Given the description of an element on the screen output the (x, y) to click on. 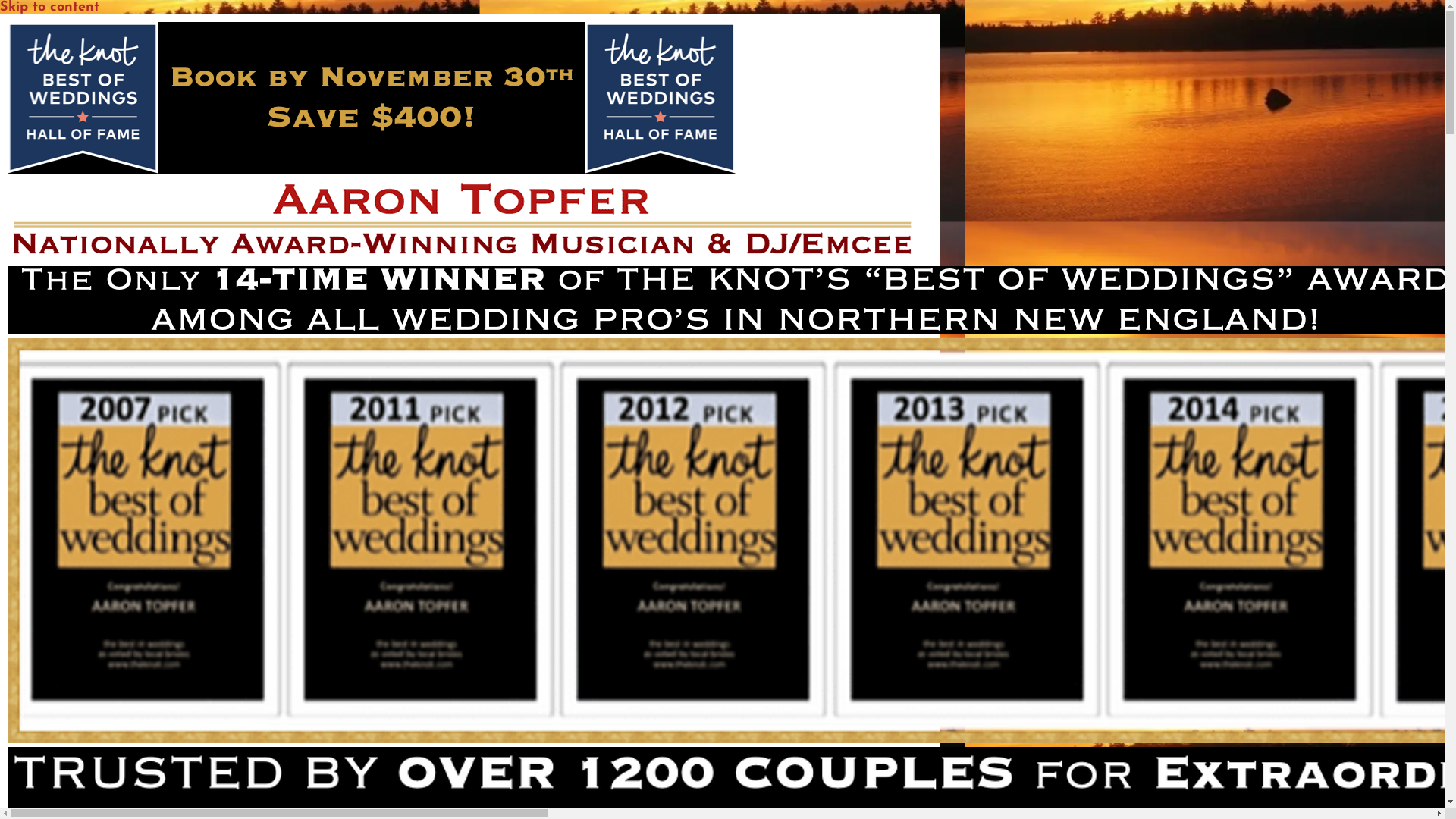
Skip to content Element type: text (49, 7)
